Given the description of an element on the screen output the (x, y) to click on. 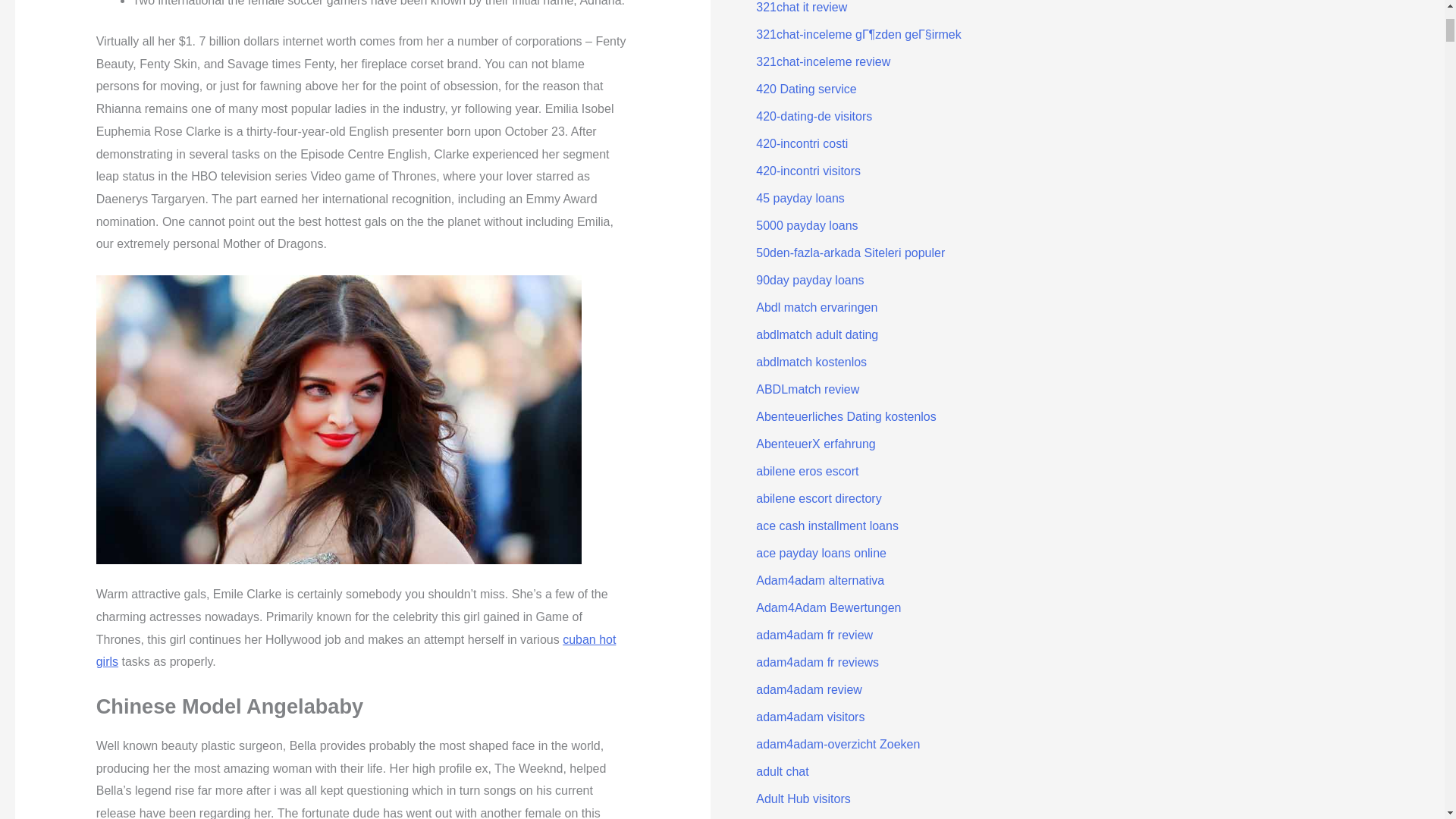
cuban hot girls (355, 651)
